Given the description of an element on the screen output the (x, y) to click on. 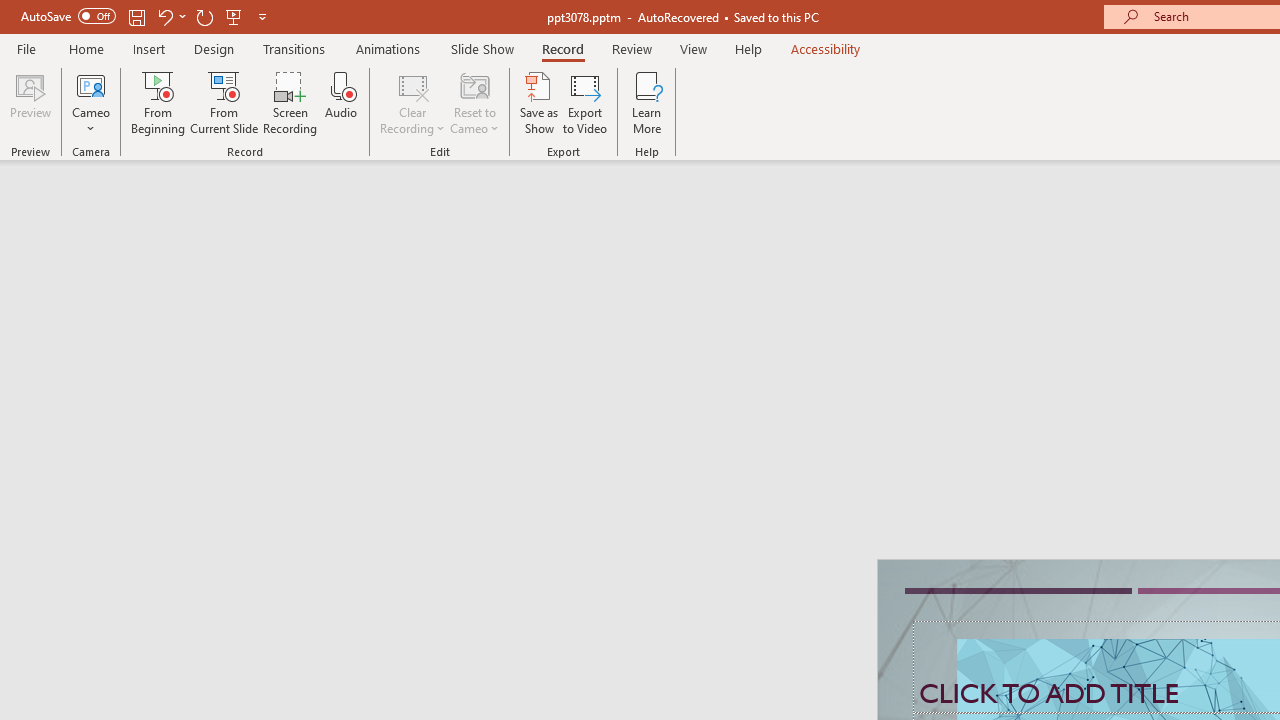
Screen Recording (290, 102)
